Given the description of an element on the screen output the (x, y) to click on. 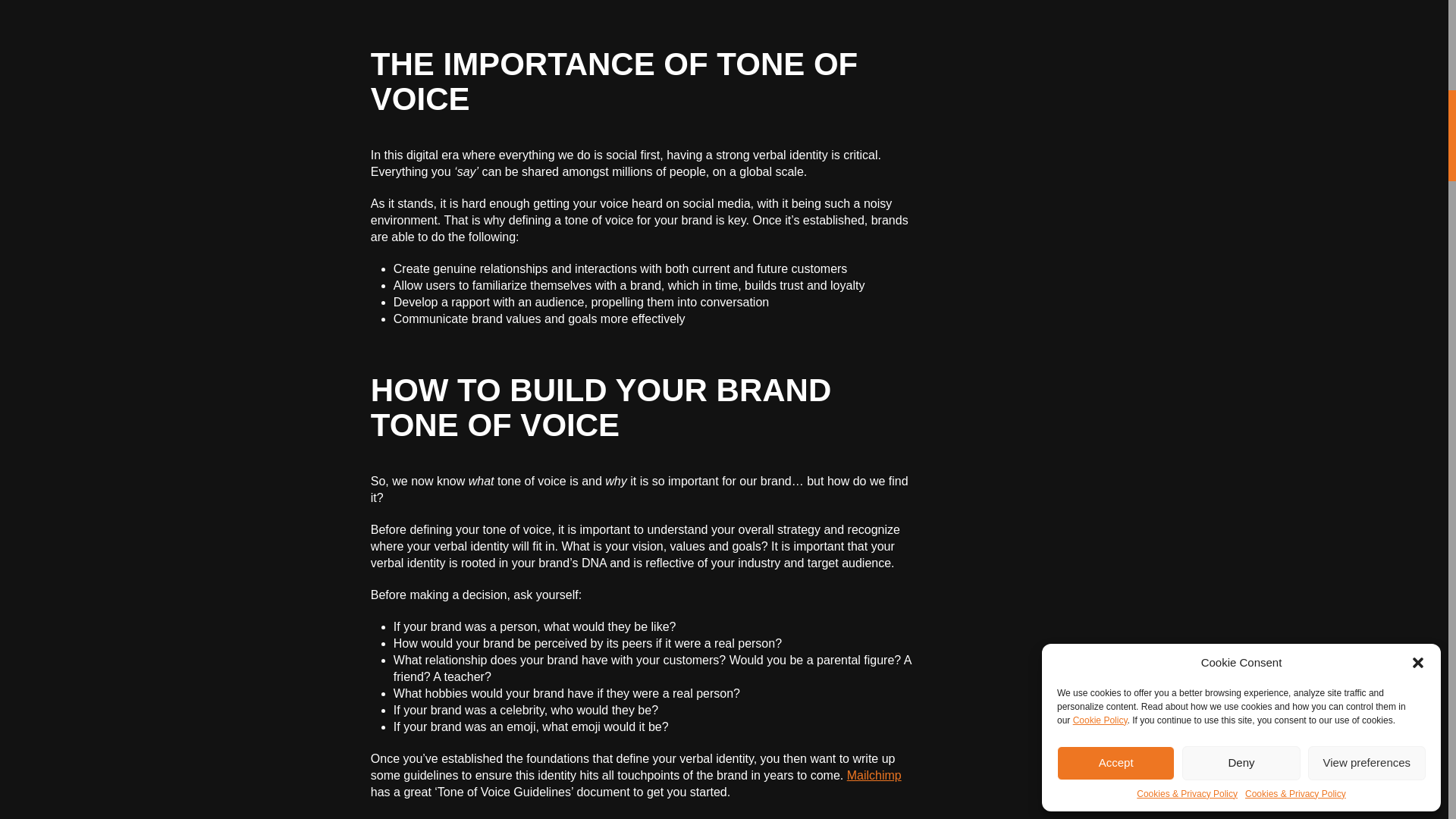
Mailchimp (874, 775)
